Given the description of an element on the screen output the (x, y) to click on. 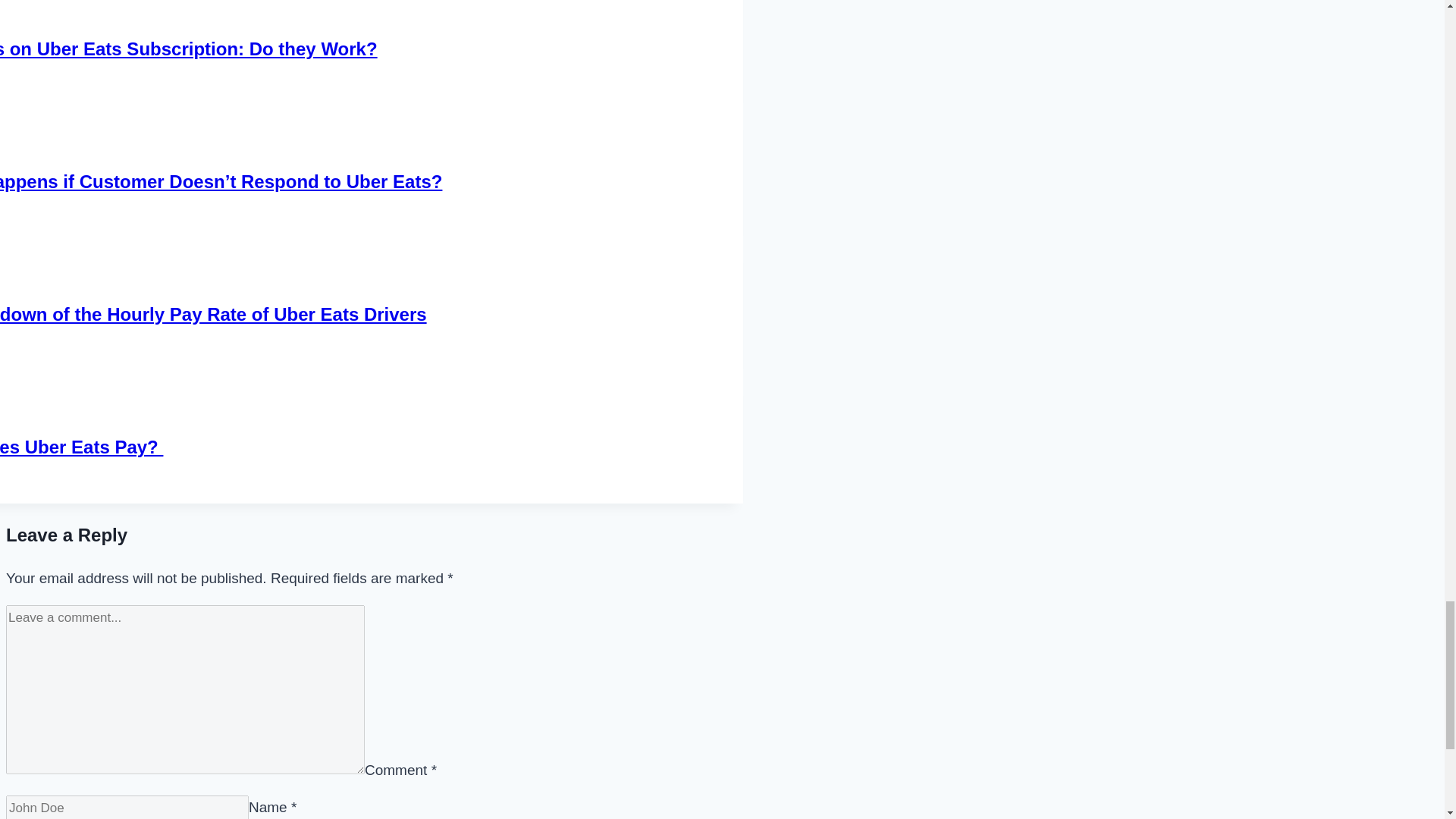
Refunds on Uber Eats Subscription: Do they Work? (188, 48)
How Does Uber Eats Pay?  (81, 446)
A Breakdown of the Hourly Pay Rate of Uber Eats Drivers (213, 313)
